Given the description of an element on the screen output the (x, y) to click on. 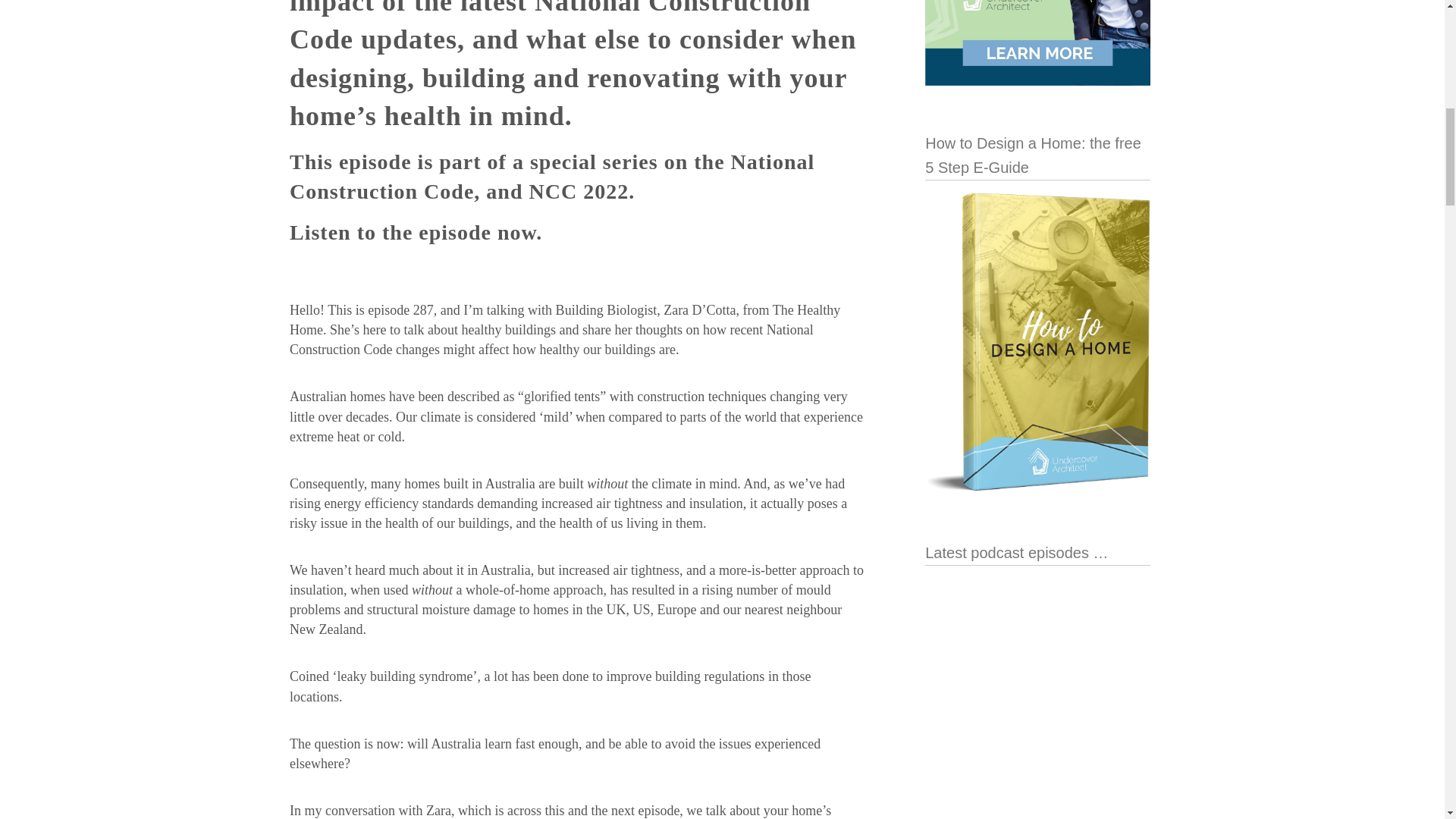
Get It Right with Undercover Architect (1037, 696)
